Given the description of an element on the screen output the (x, y) to click on. 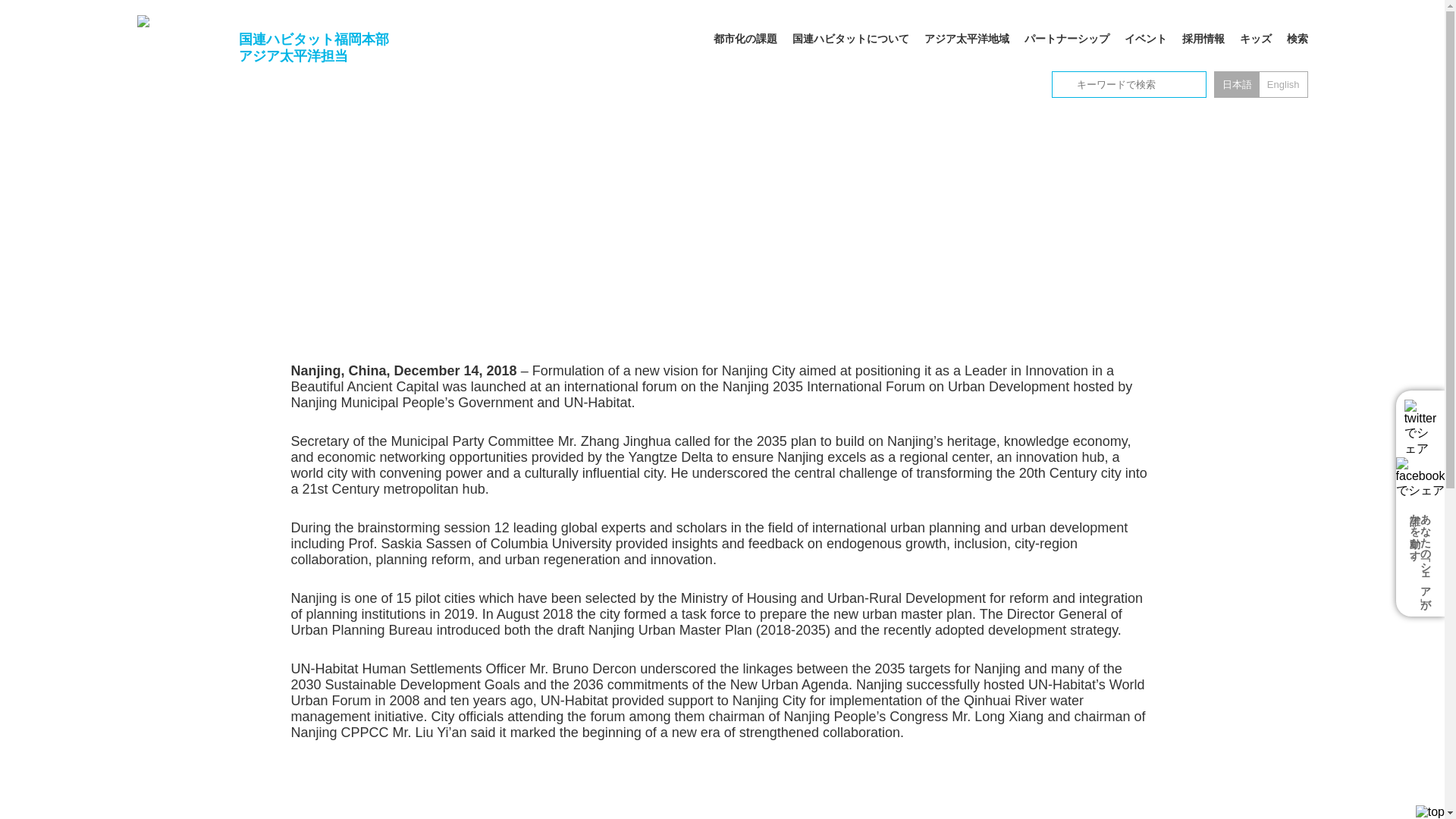
English (1283, 84)
EN (1283, 84)
INFORMATION (370, 98)
JA (1236, 84)
STORY (436, 98)
